Given the description of an element on the screen output the (x, y) to click on. 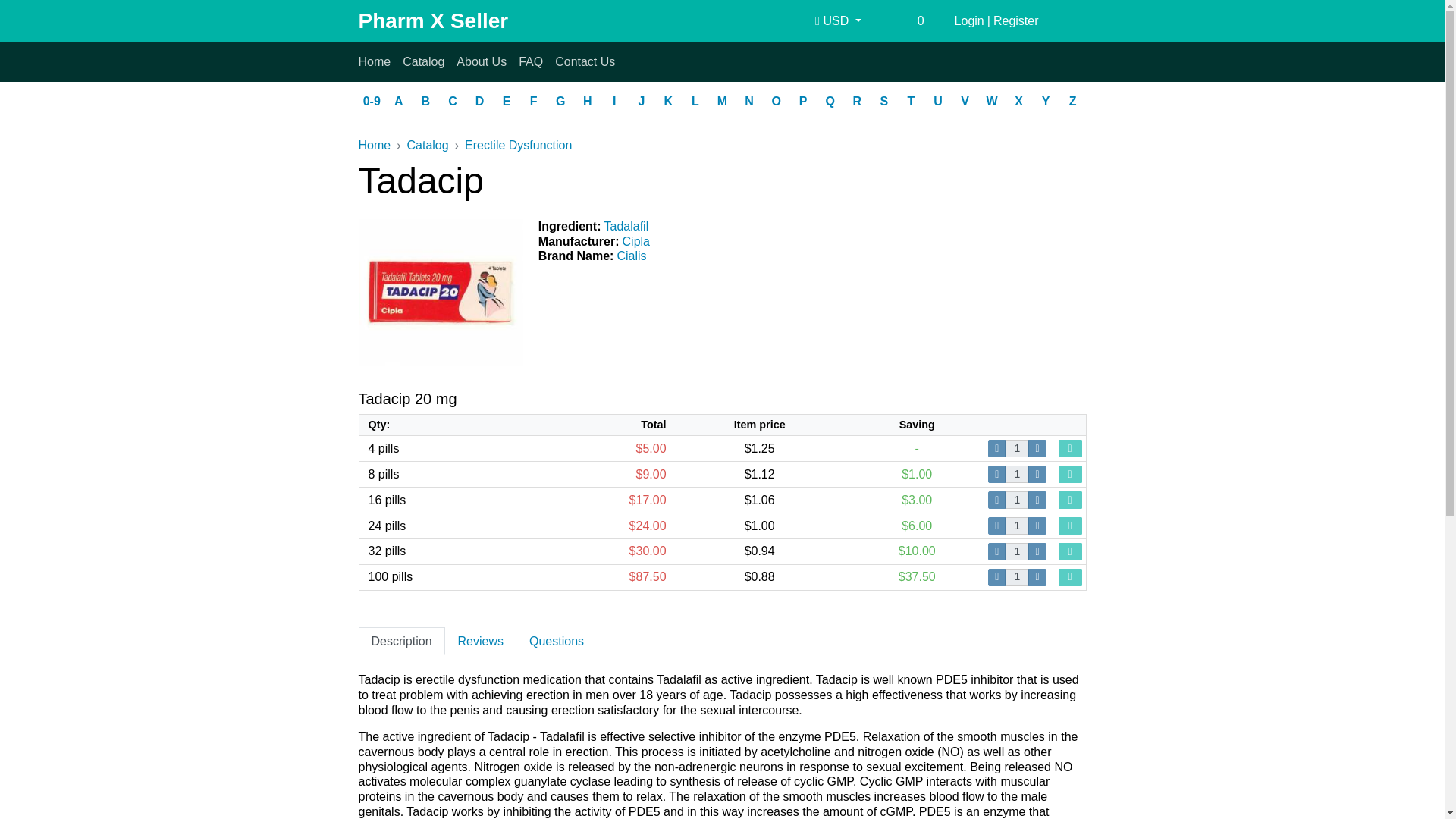
Products 100 (479, 101)
1 (1016, 551)
Products 5 (830, 101)
Products 14 (668, 101)
1 (1016, 448)
1 (1016, 474)
Products 53 (587, 101)
Products 5 (641, 101)
Products 103 (884, 101)
Products 76 (802, 101)
